Given the description of an element on the screen output the (x, y) to click on. 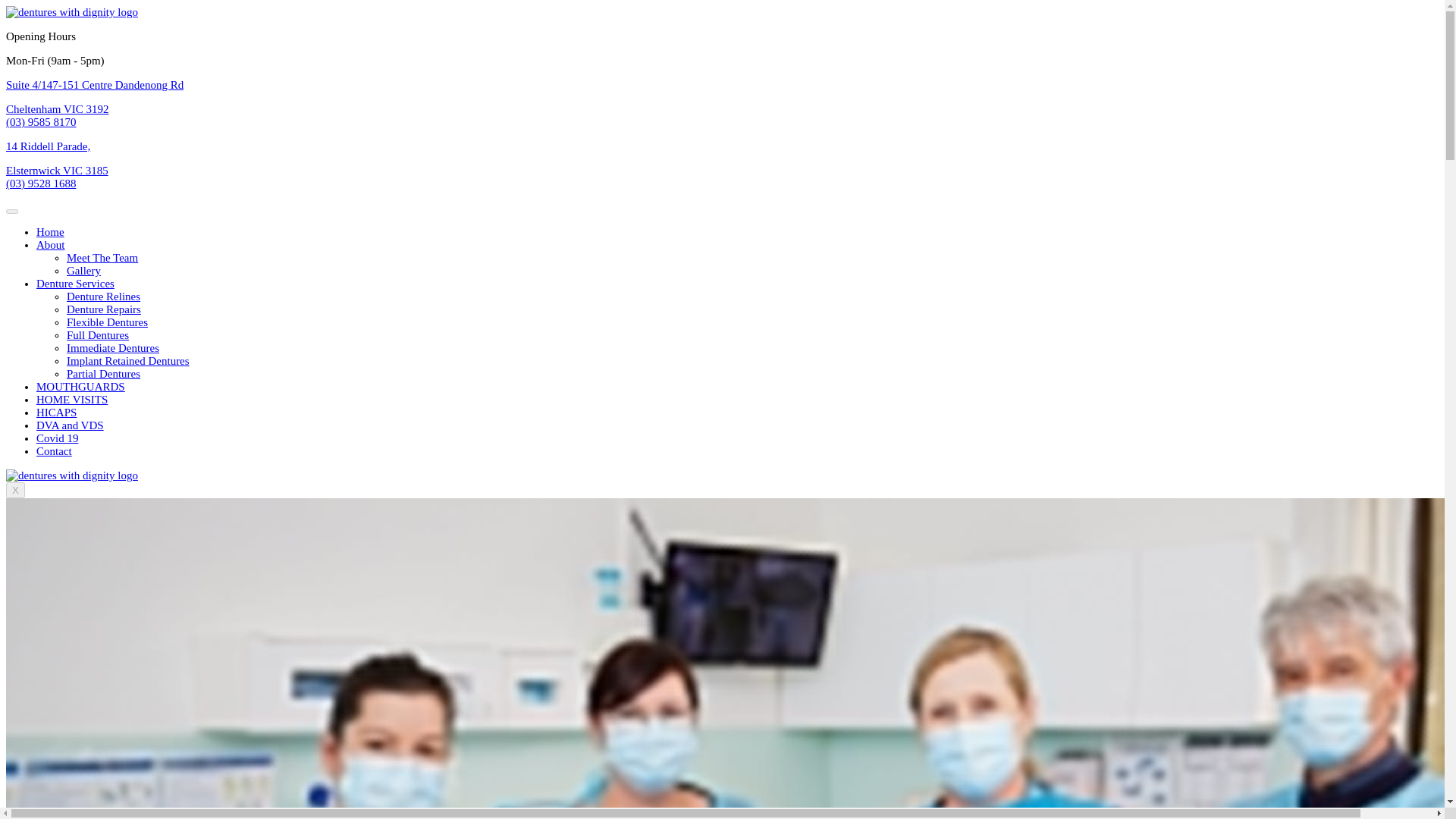
Denture Services (75, 283)
HOME VISITS (71, 399)
MOUTHGUARDS (80, 386)
Gallery (83, 270)
Flexible Dentures (107, 322)
Implant Retained Dentures (127, 360)
Partial Dentures (102, 373)
Denture Relines (102, 296)
Denture Repairs (103, 309)
Home (50, 232)
